Given the description of an element on the screen output the (x, y) to click on. 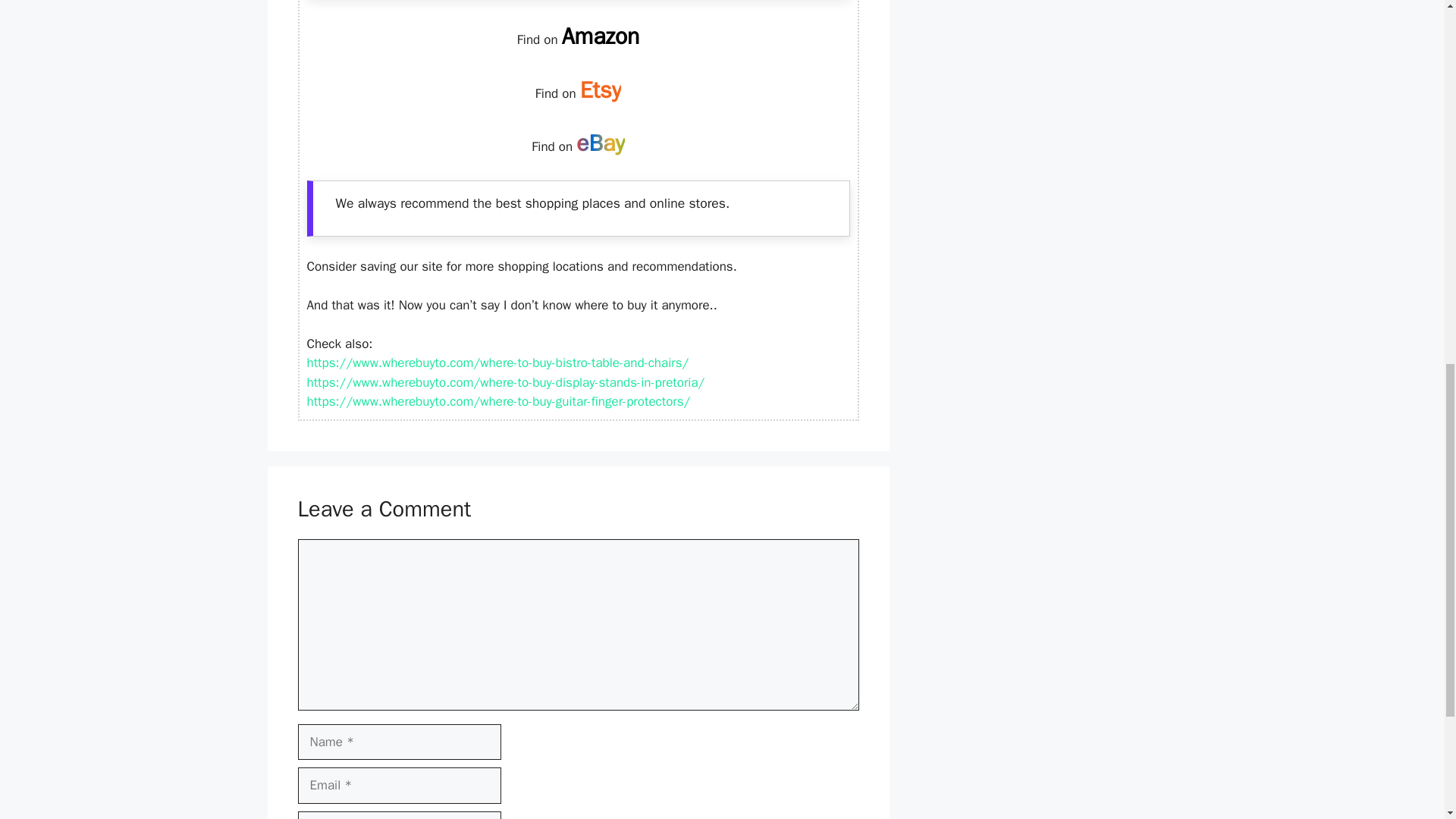
Amazon (600, 36)
Etsy (600, 90)
eBay (600, 143)
